Given the description of an element on the screen output the (x, y) to click on. 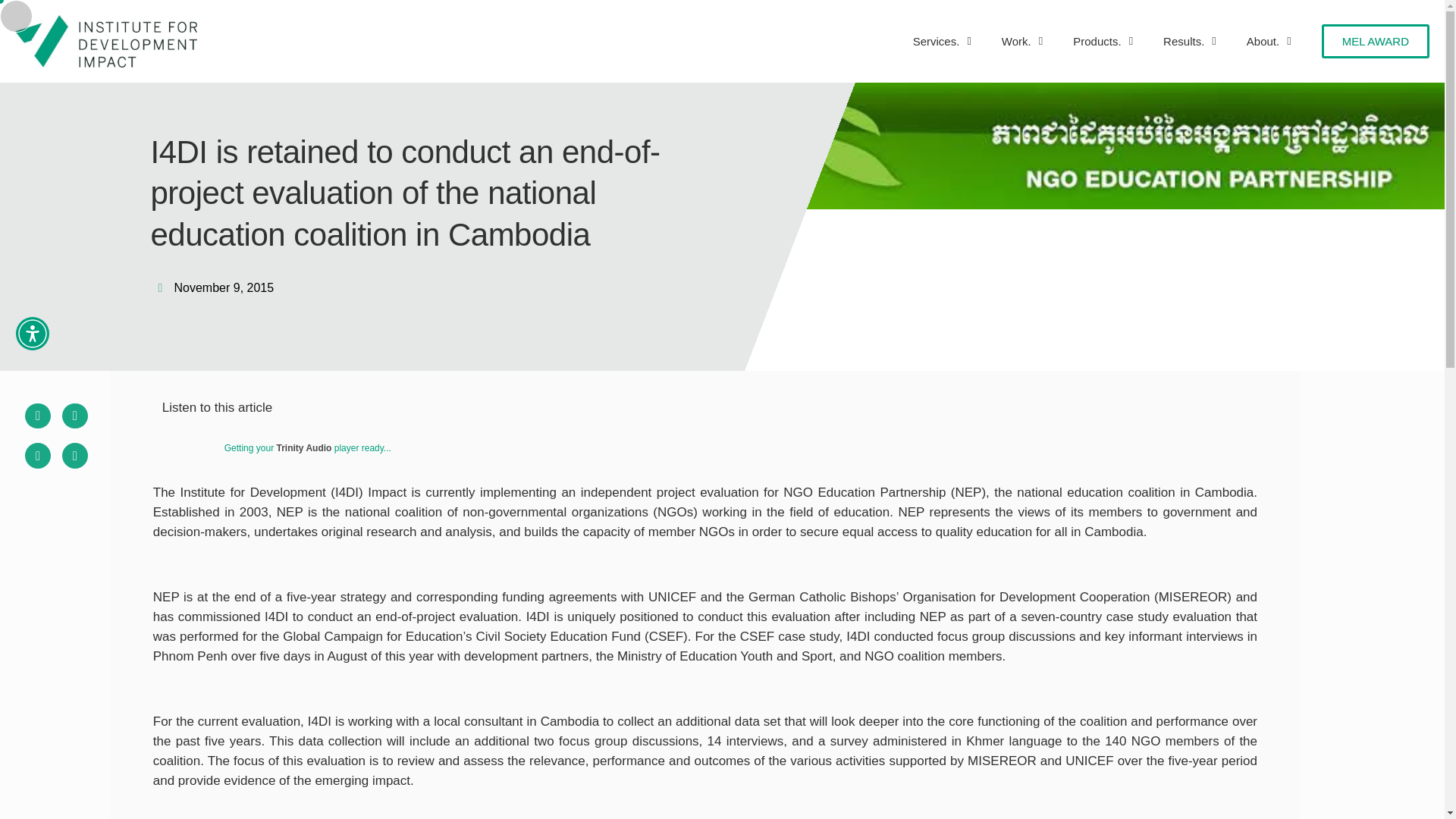
Products. (1103, 41)
Services. (942, 41)
Work. (1022, 41)
About. (1268, 41)
Accessibility Menu (32, 333)
Results. (1189, 41)
